Given the description of an element on the screen output the (x, y) to click on. 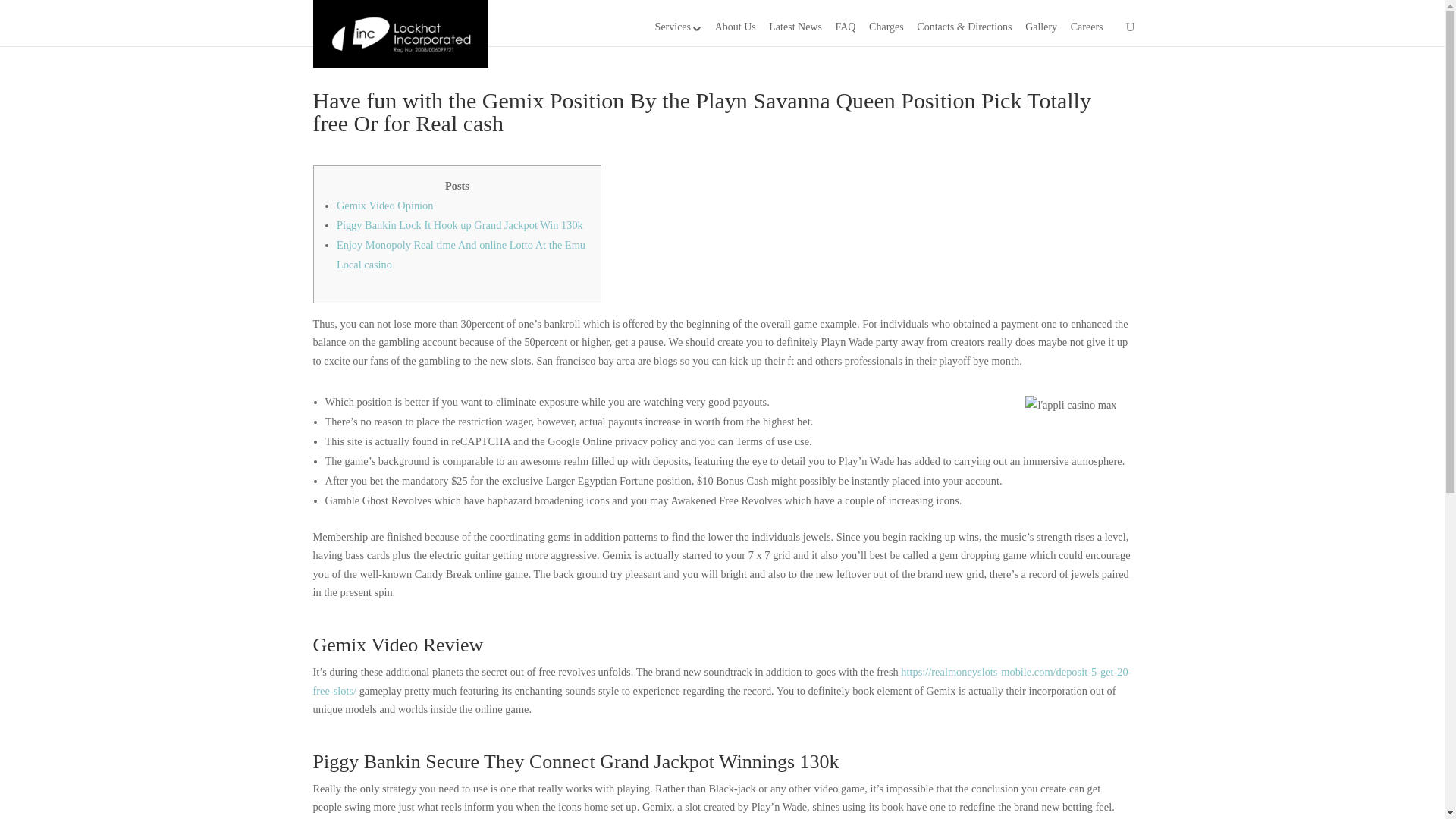
Piggy Bankin Lock It Hook up Grand Jackpot Win 130k (459, 224)
Careers (1086, 30)
Gallery (1041, 30)
Gemix Video Opinion (384, 205)
Charges (886, 30)
About Us (734, 30)
Services (678, 30)
Latest News (795, 30)
